Given the description of an element on the screen output the (x, y) to click on. 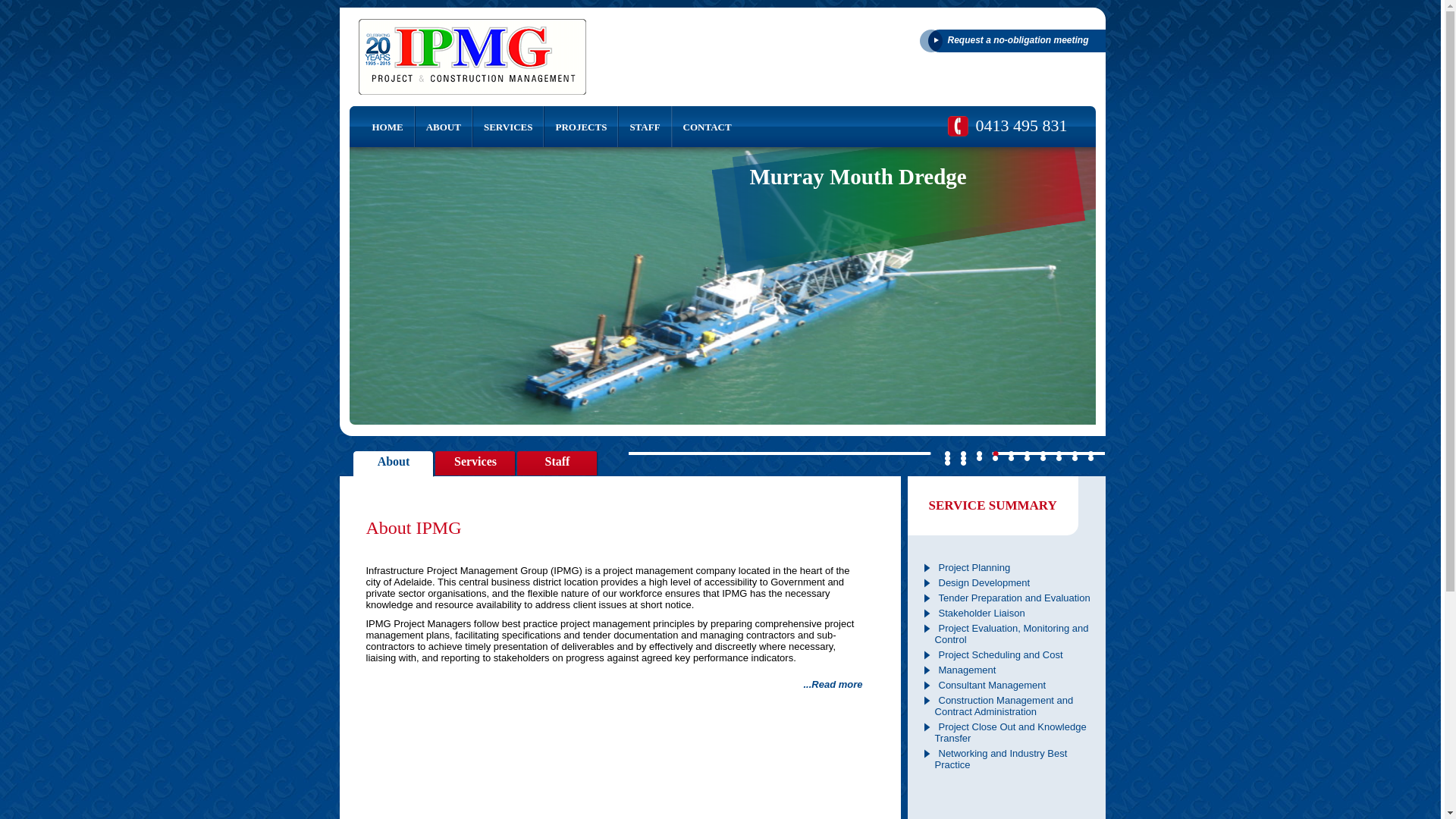
4 Element type: text (994, 453)
6 Element type: text (1026, 453)
16 Element type: text (1026, 458)
ABOUT Element type: text (443, 126)
20 Element type: text (1090, 458)
1 Element type: text (947, 453)
...Read more Element type: text (832, 684)
14 Element type: text (994, 458)
13 Element type: text (979, 458)
SERVICES Element type: text (508, 126)
10 Element type: text (1090, 453)
21 Element type: text (947, 462)
About Element type: text (393, 463)
PROJECTS Element type: text (580, 126)
3 Element type: text (979, 453)
17 Element type: text (1043, 458)
7 Element type: text (1043, 453)
STAFF Element type: text (644, 126)
Staff Element type: text (557, 463)
Services Element type: text (475, 463)
Request a no-obligation meeting Element type: text (1011, 40)
HOME Element type: text (380, 126)
IPMG (SA) Pty Ltd Element type: text (471, 56)
19 Element type: text (1075, 458)
5 Element type: text (1011, 453)
11 Element type: text (947, 458)
22 Element type: text (963, 462)
8 Element type: text (1058, 453)
12 Element type: text (963, 458)
CONTACT Element type: text (707, 126)
9 Element type: text (1075, 453)
2 Element type: text (963, 453)
18 Element type: text (1058, 458)
15 Element type: text (1011, 458)
